Given the description of an element on the screen output the (x, y) to click on. 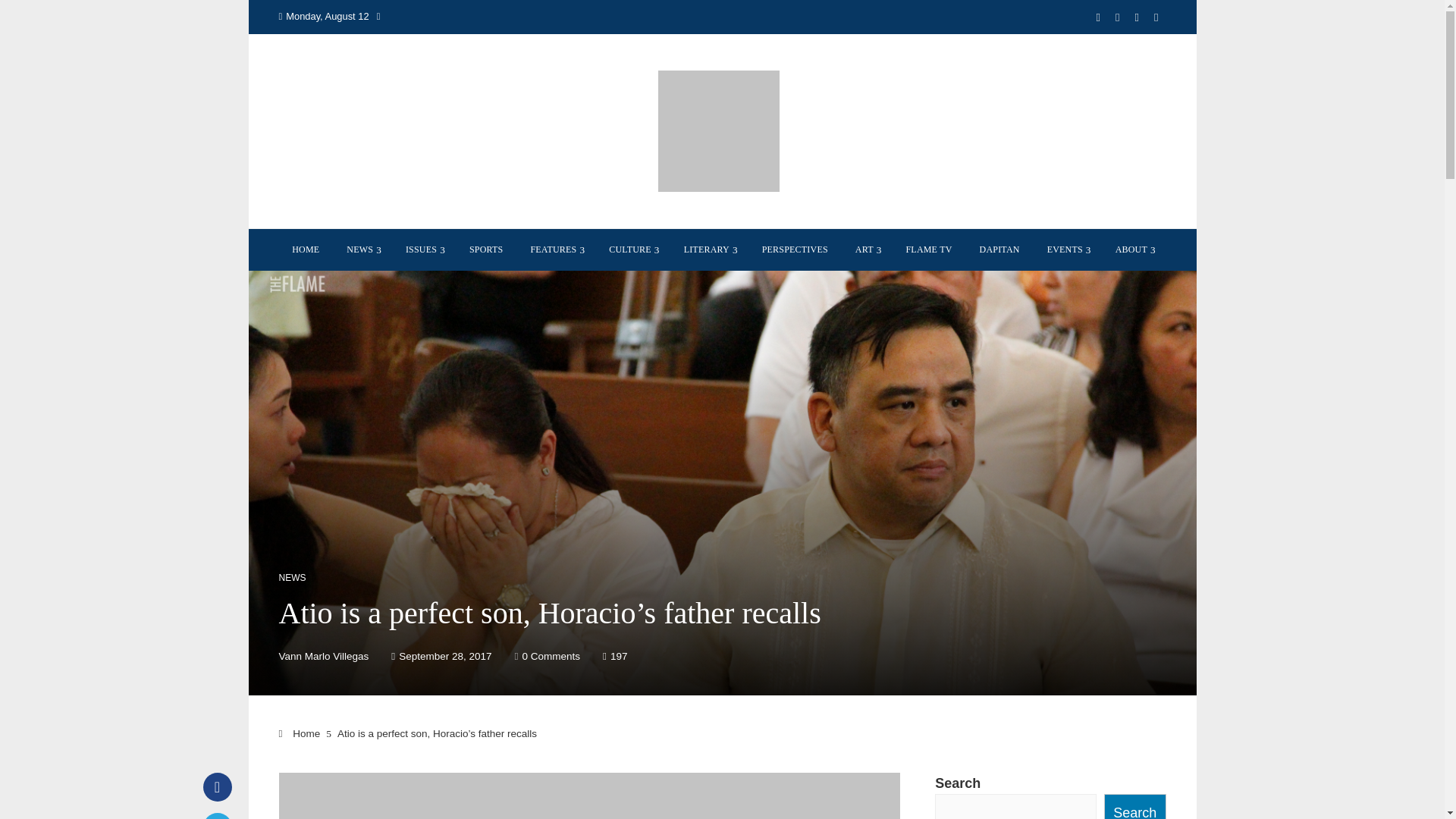
ISSUES (423, 249)
FLAME TV (927, 249)
NEWS (362, 249)
HOME (305, 249)
CULTURE (631, 249)
LITERARY (708, 249)
SPORTS (486, 249)
PERSPECTIVES (795, 249)
ABOUT (1133, 249)
EVENTS (1067, 249)
